Given the description of an element on the screen output the (x, y) to click on. 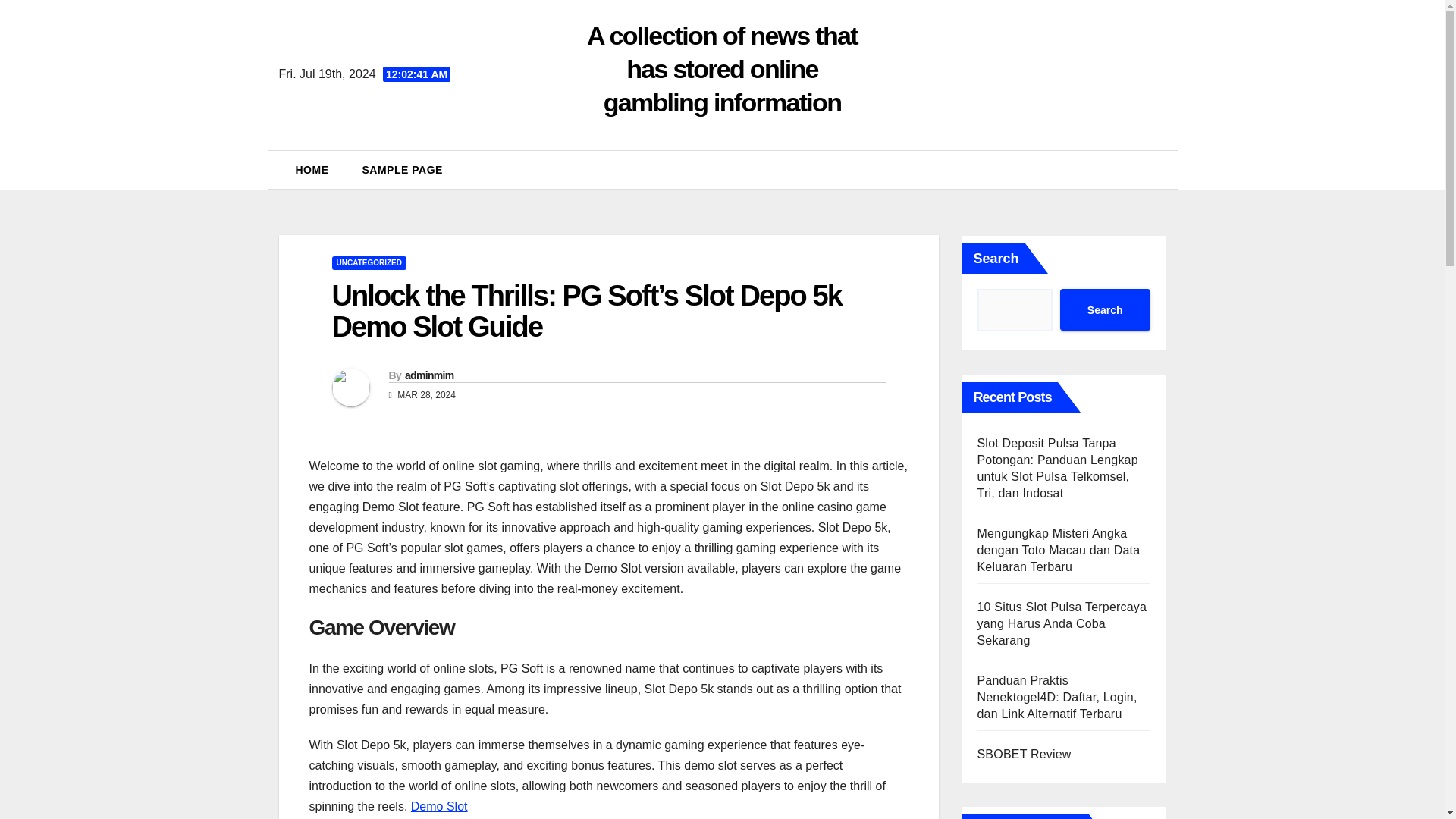
SBOBET Review (1023, 753)
Demo Slot (438, 806)
Home (312, 169)
Search (1104, 309)
UNCATEGORIZED (368, 263)
HOME (312, 169)
adminmim (428, 375)
10 Situs Slot Pulsa Terpercaya yang Harus Anda Coba Sekarang (1061, 623)
SAMPLE PAGE (403, 169)
